Given the description of an element on the screen output the (x, y) to click on. 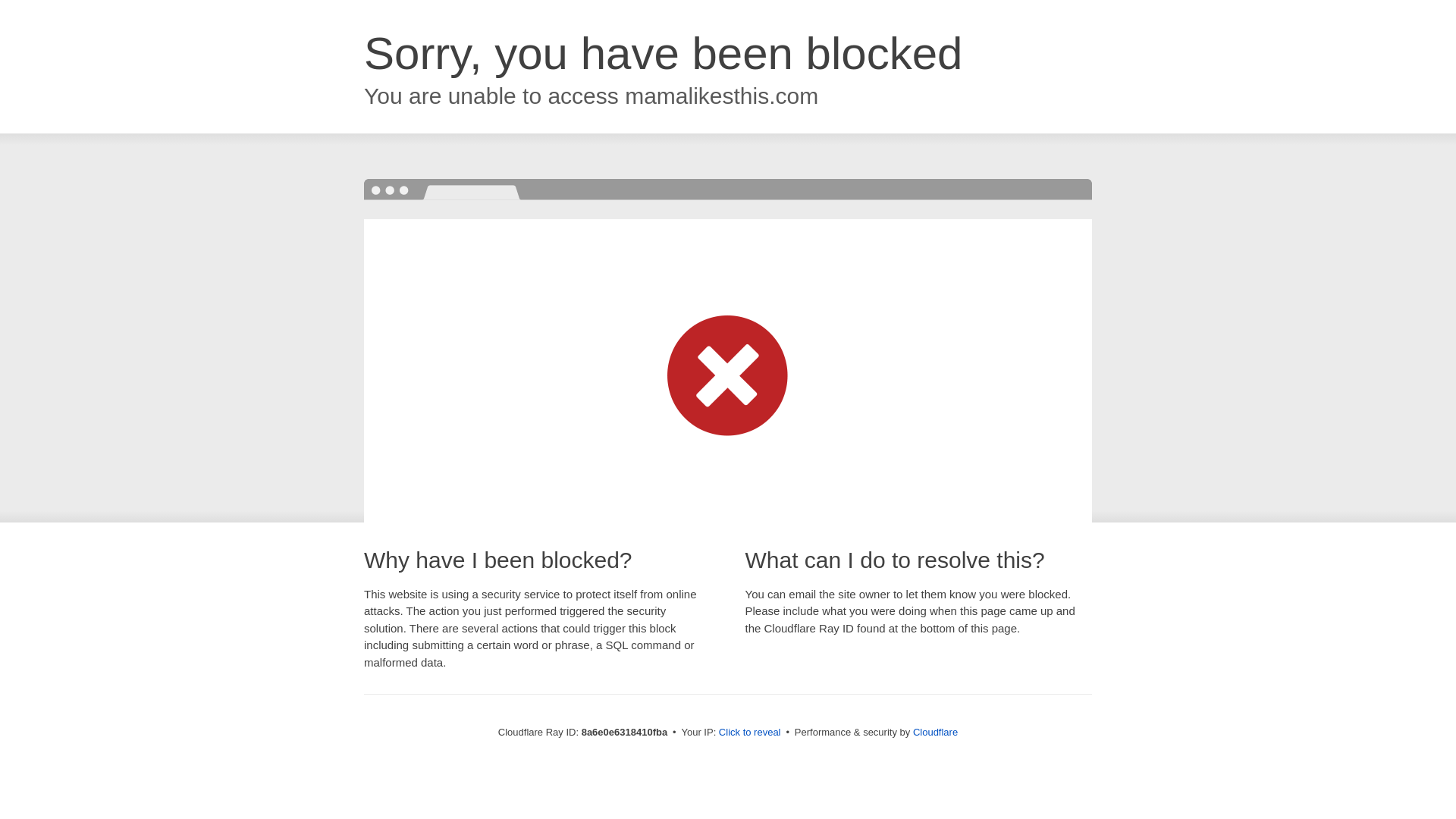
Cloudflare (935, 731)
Click to reveal (749, 732)
